Given the description of an element on the screen output the (x, y) to click on. 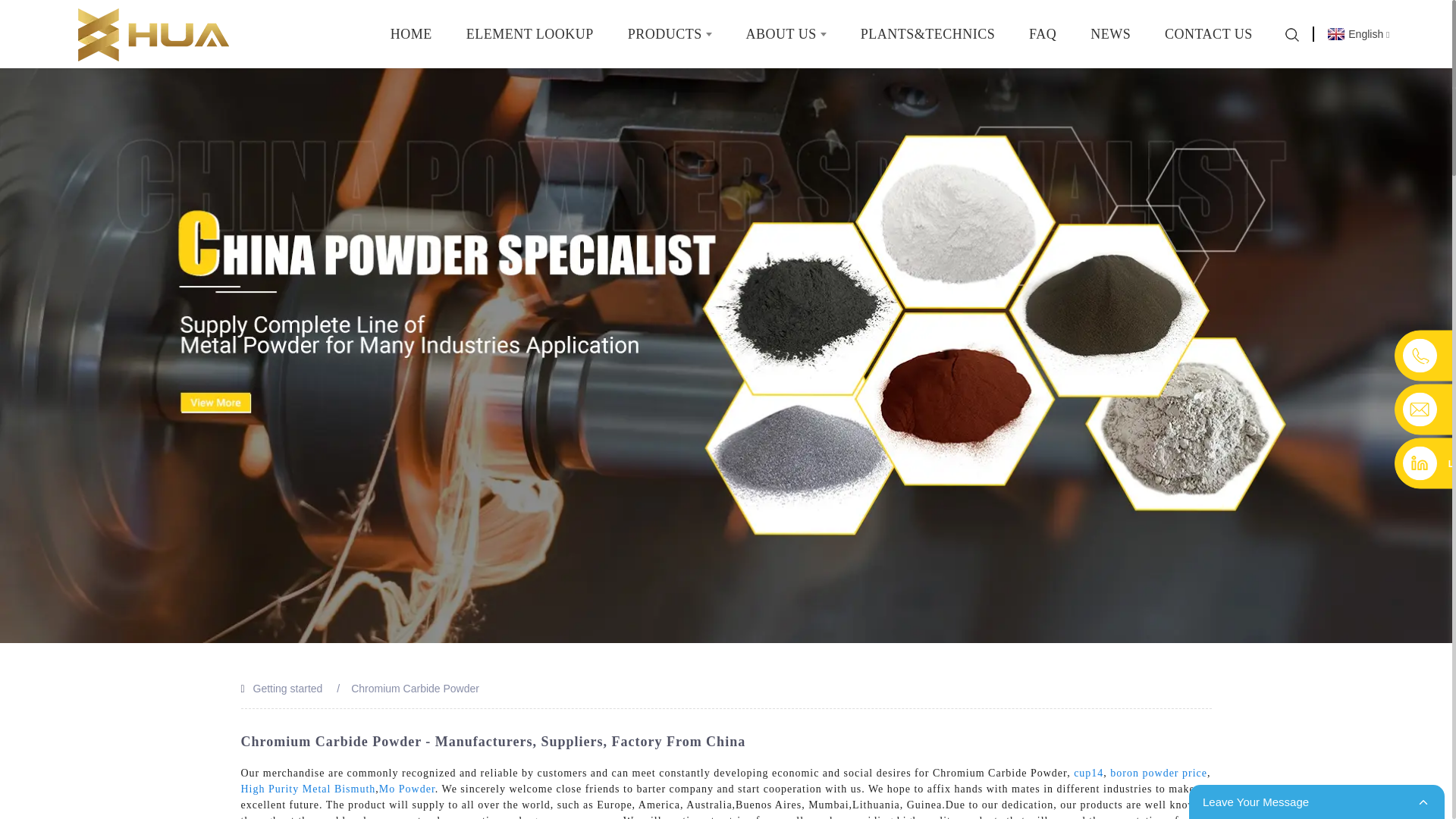
cup14 (1088, 772)
ABOUT US (785, 33)
boron powder price (1158, 772)
Chromium Carbide Powder (414, 688)
NEWS (1110, 33)
Mo Powder (406, 788)
PRODUCTS (669, 33)
ELEMENT LOOKUP (529, 33)
English (1358, 33)
Getting started (288, 688)
